Given the description of an element on the screen output the (x, y) to click on. 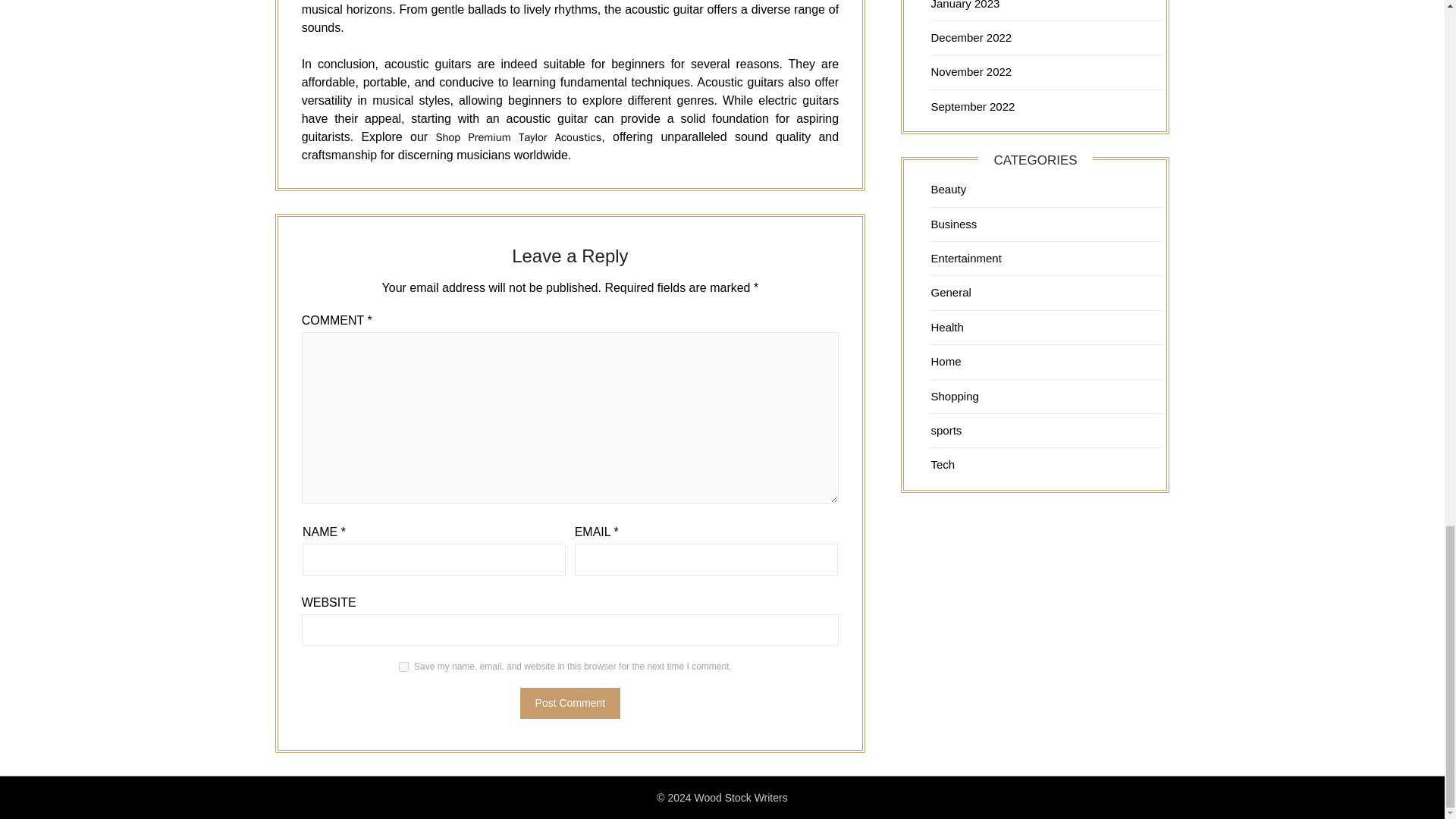
September 2022 (972, 106)
General (950, 291)
Shopping (954, 395)
Health (946, 327)
December 2022 (970, 37)
sports (945, 430)
Post Comment (570, 703)
Beauty (948, 188)
January 2023 (964, 4)
Entertainment (965, 257)
Business (953, 223)
yes (403, 666)
Post Comment (570, 703)
Home (945, 360)
November 2022 (970, 71)
